Given the description of an element on the screen output the (x, y) to click on. 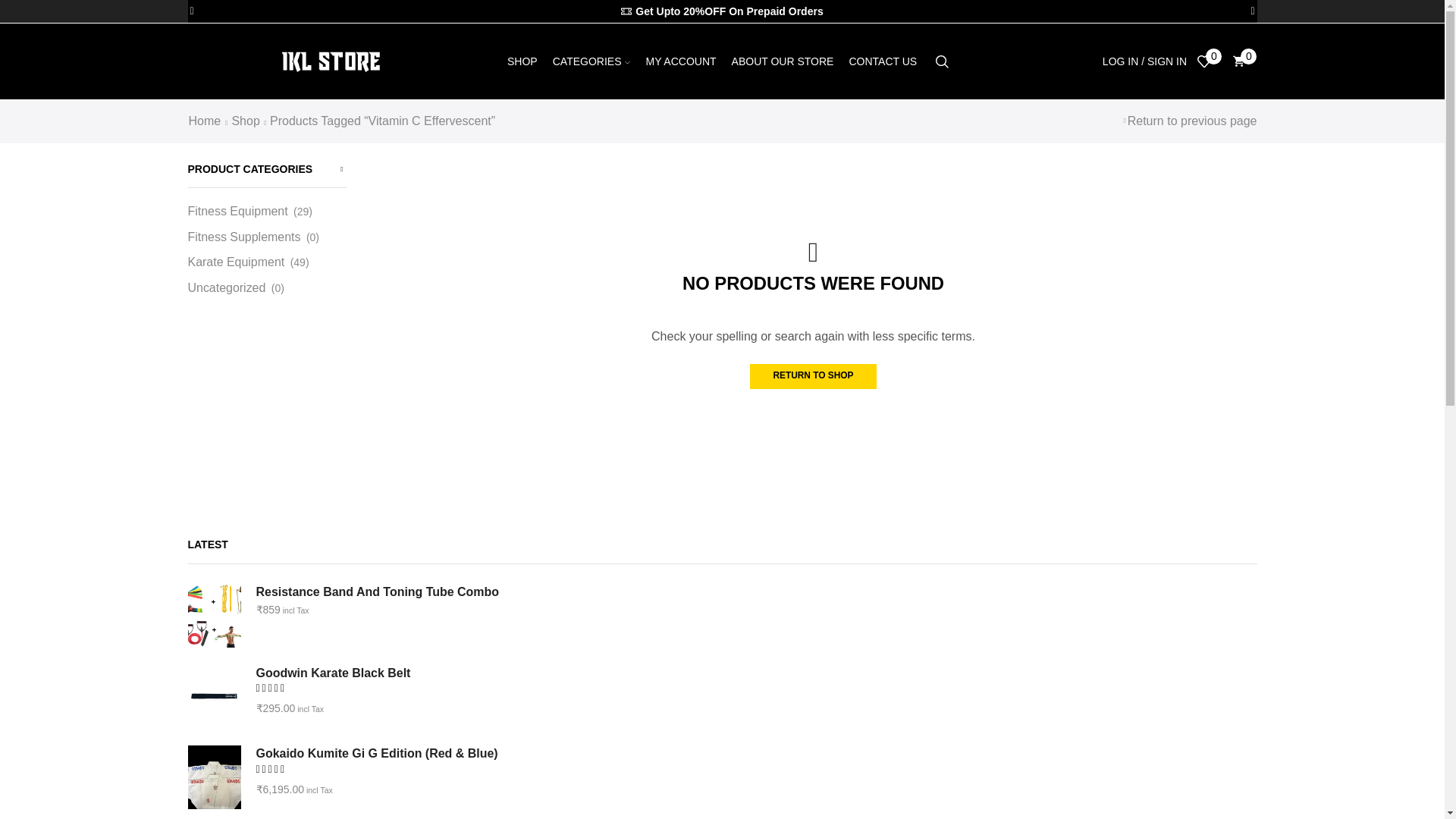
0 (1243, 60)
SHOP (521, 61)
Log in (1073, 317)
0 (1208, 60)
MY ACCOUNT (680, 61)
Goodwin Karate Black Belt (747, 673)
Resistance Band And Toning Tube Combo (214, 615)
Goodwin Karate Black Belt (214, 696)
ABOUT OUR STORE (782, 61)
CATEGORIES (591, 61)
Resistance Band And Toning Tube Combo (747, 591)
CONTACT US (882, 61)
